Given the description of an element on the screen output the (x, y) to click on. 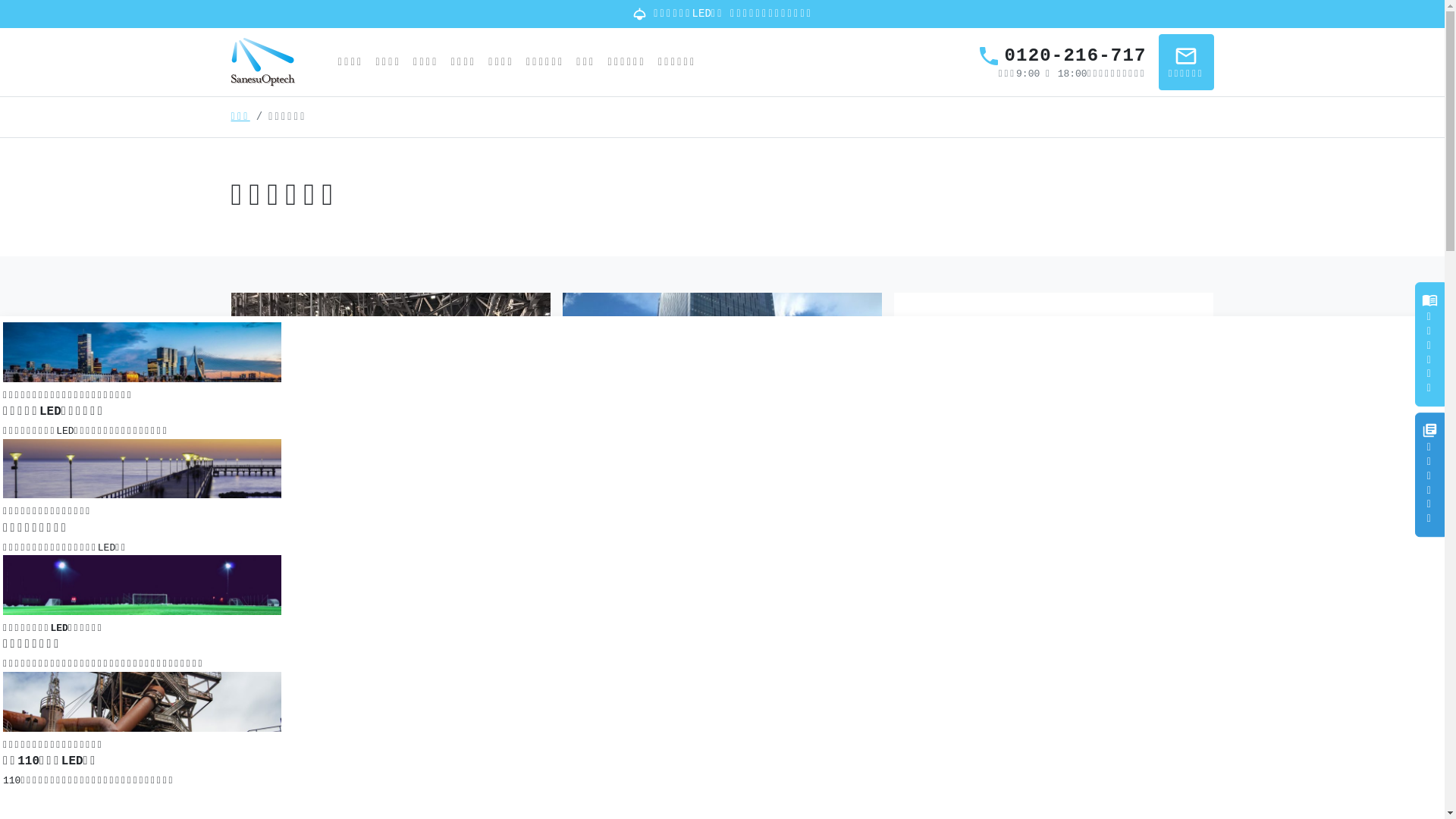
phone
0120-216-717 Element type: text (1060, 55)
menu Element type: text (1420, 23)
